Given the description of an element on the screen output the (x, y) to click on. 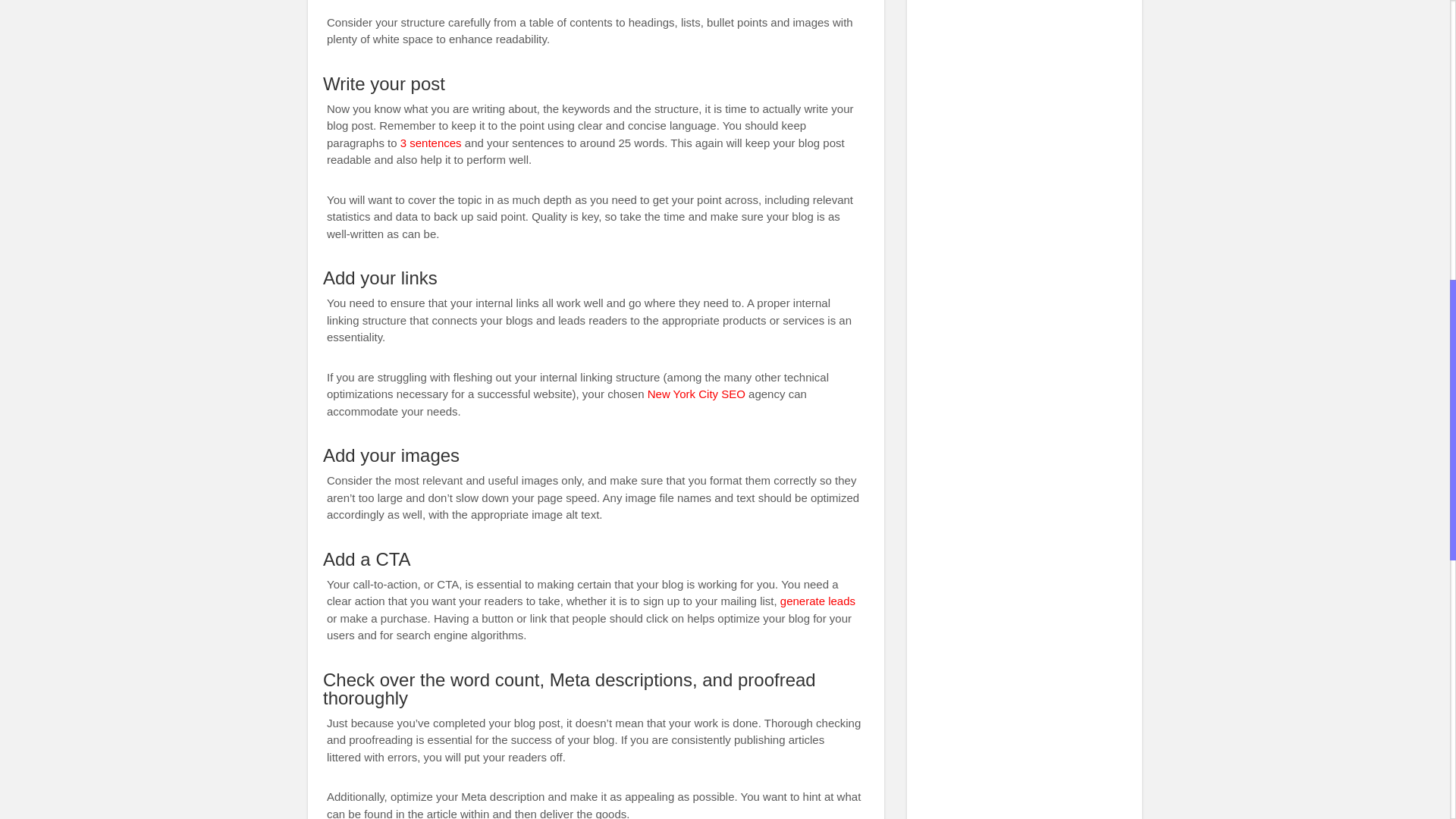
Scroll To Top (1427, 60)
New York City SEO (696, 393)
generate leads (818, 600)
3 sentences (430, 142)
